Given the description of an element on the screen output the (x, y) to click on. 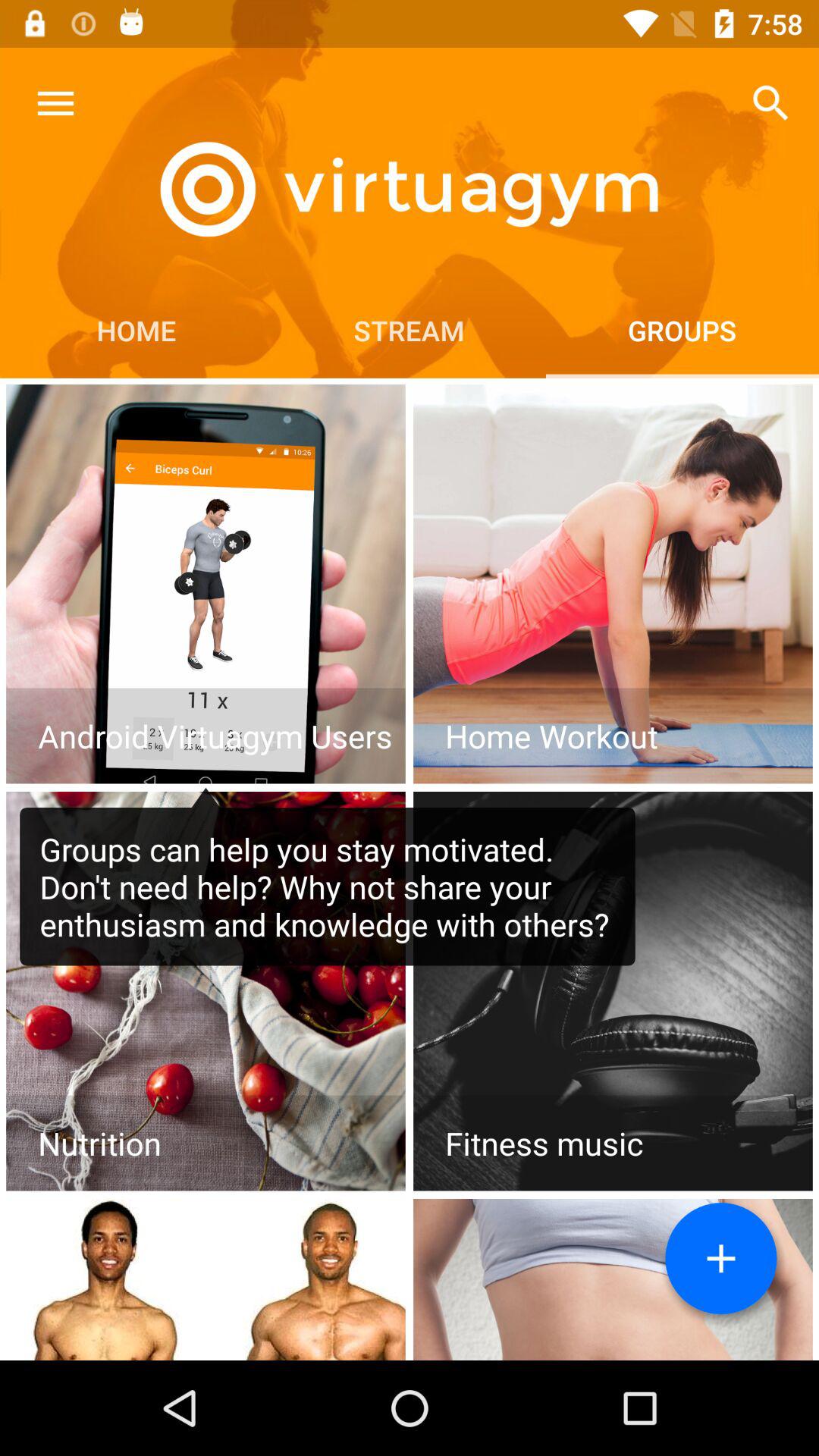
select phone (205, 583)
